Given the description of an element on the screen output the (x, y) to click on. 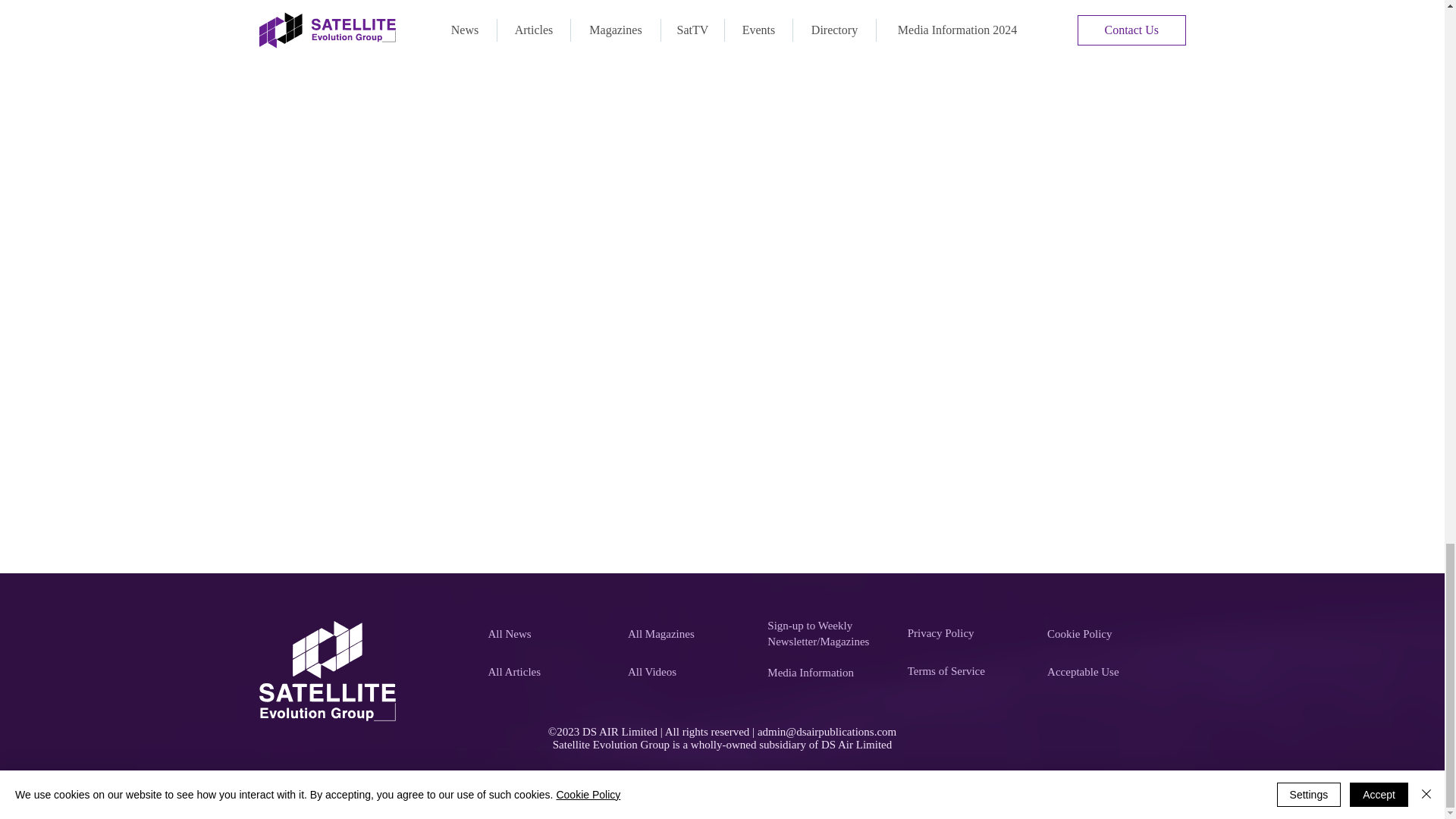
All Articles (549, 672)
Acceptable Use (1108, 672)
Media Information (828, 672)
Cookie Policy (1108, 634)
All News (549, 634)
Privacy Policy (968, 633)
All Videos (689, 672)
All Magazines (689, 634)
Terms of Service (968, 671)
